Given the description of an element on the screen output the (x, y) to click on. 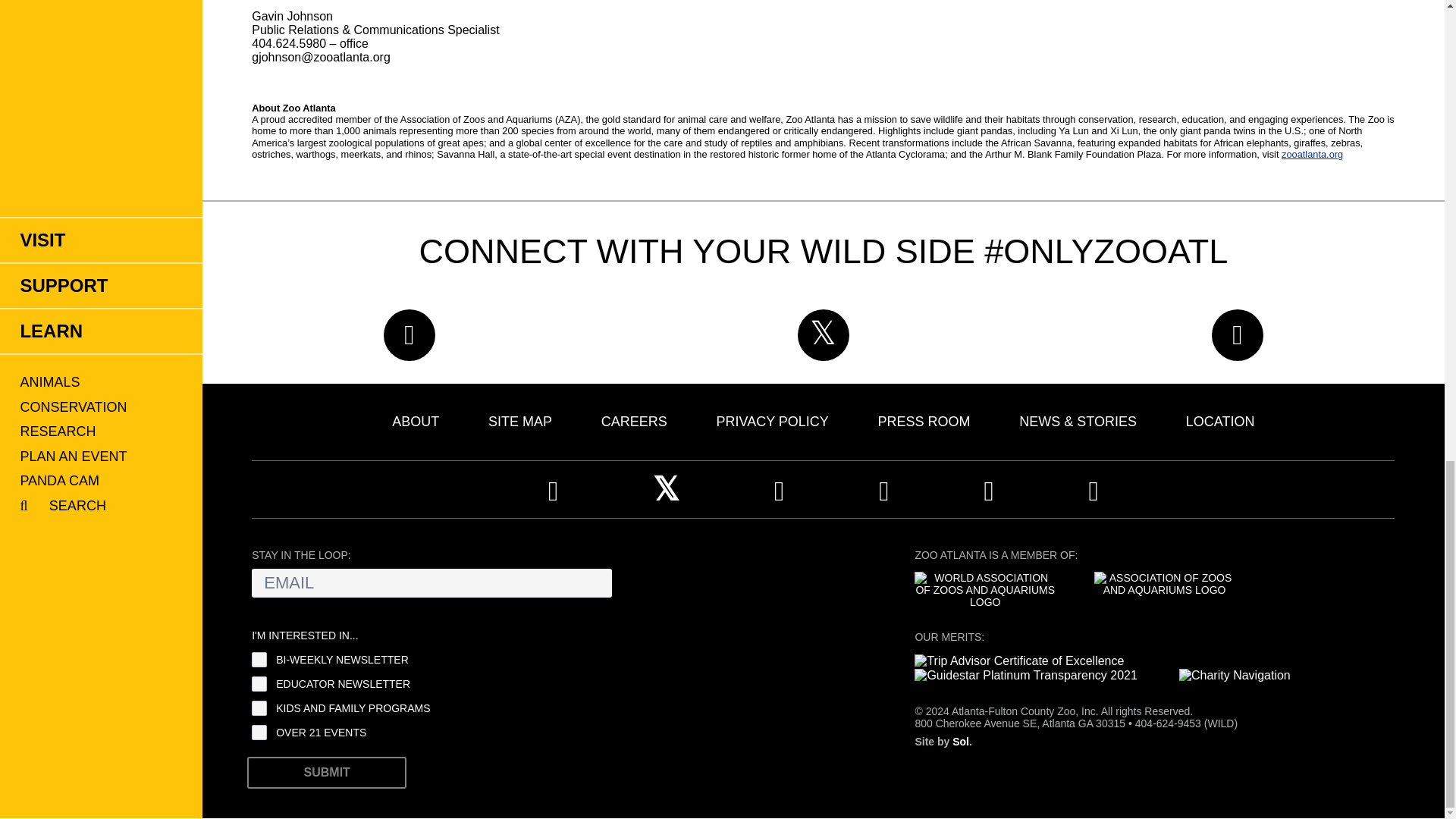
Over 21 Events (258, 732)
Kids and Family Programs (258, 708)
Bi-weekly Newsletter (258, 659)
Submit (326, 772)
Educator Newsletter (258, 683)
